Given the description of an element on the screen output the (x, y) to click on. 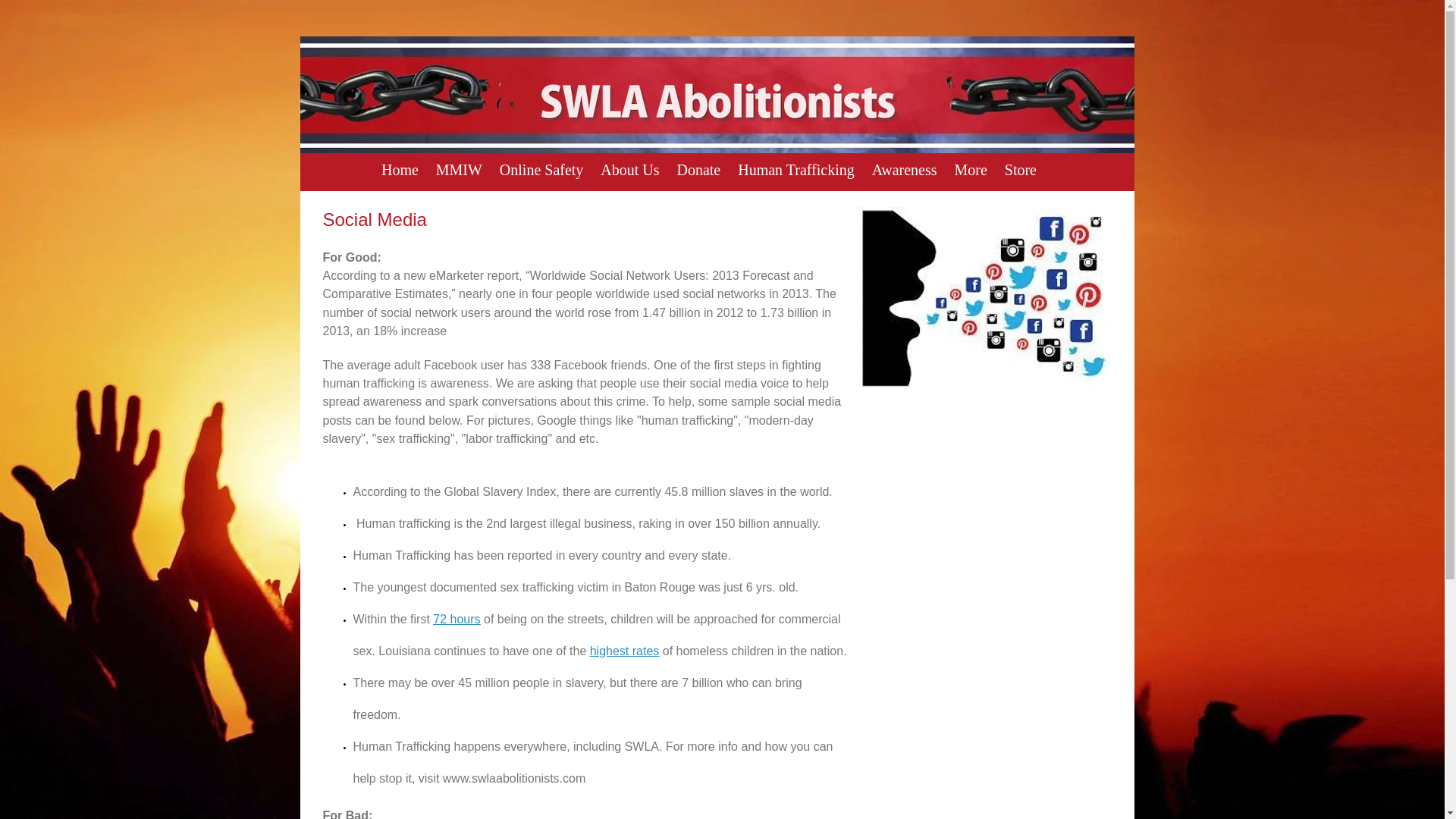
About Us (630, 169)
Awareness (903, 169)
www.swlaabolitionists.com (514, 778)
Donate (698, 169)
Online Safety (540, 169)
Store (1020, 169)
More (969, 169)
highest rates (624, 650)
72 hours (456, 618)
Human Trafficking (796, 169)
MMIW (458, 169)
Home (400, 169)
